Given the description of an element on the screen output the (x, y) to click on. 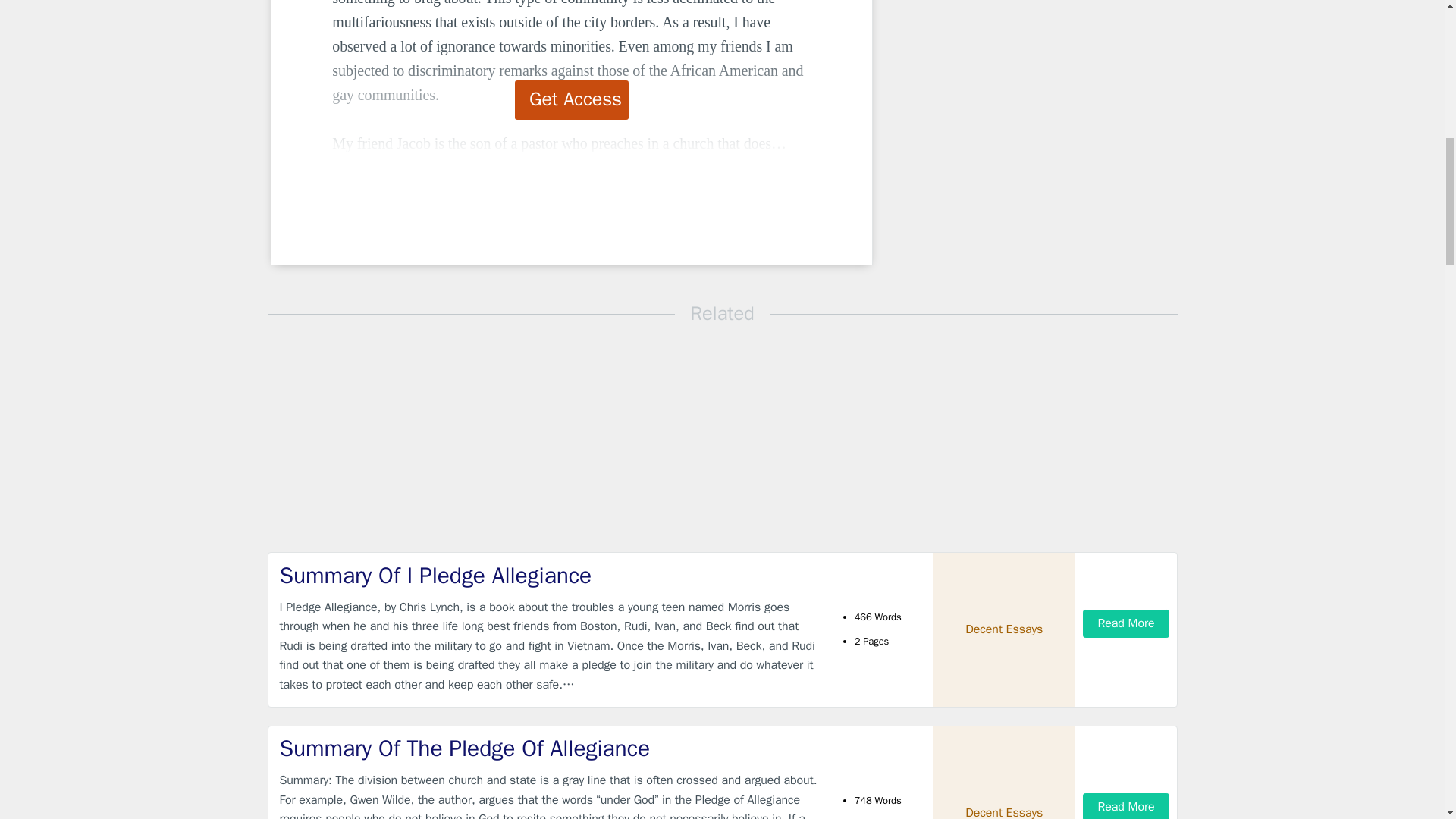
Read More (1126, 806)
Summary Of The Pledge Of Allegiance (548, 748)
Get Access (571, 99)
Read More (1126, 623)
Summary Of I Pledge Allegiance (548, 575)
